Given the description of an element on the screen output the (x, y) to click on. 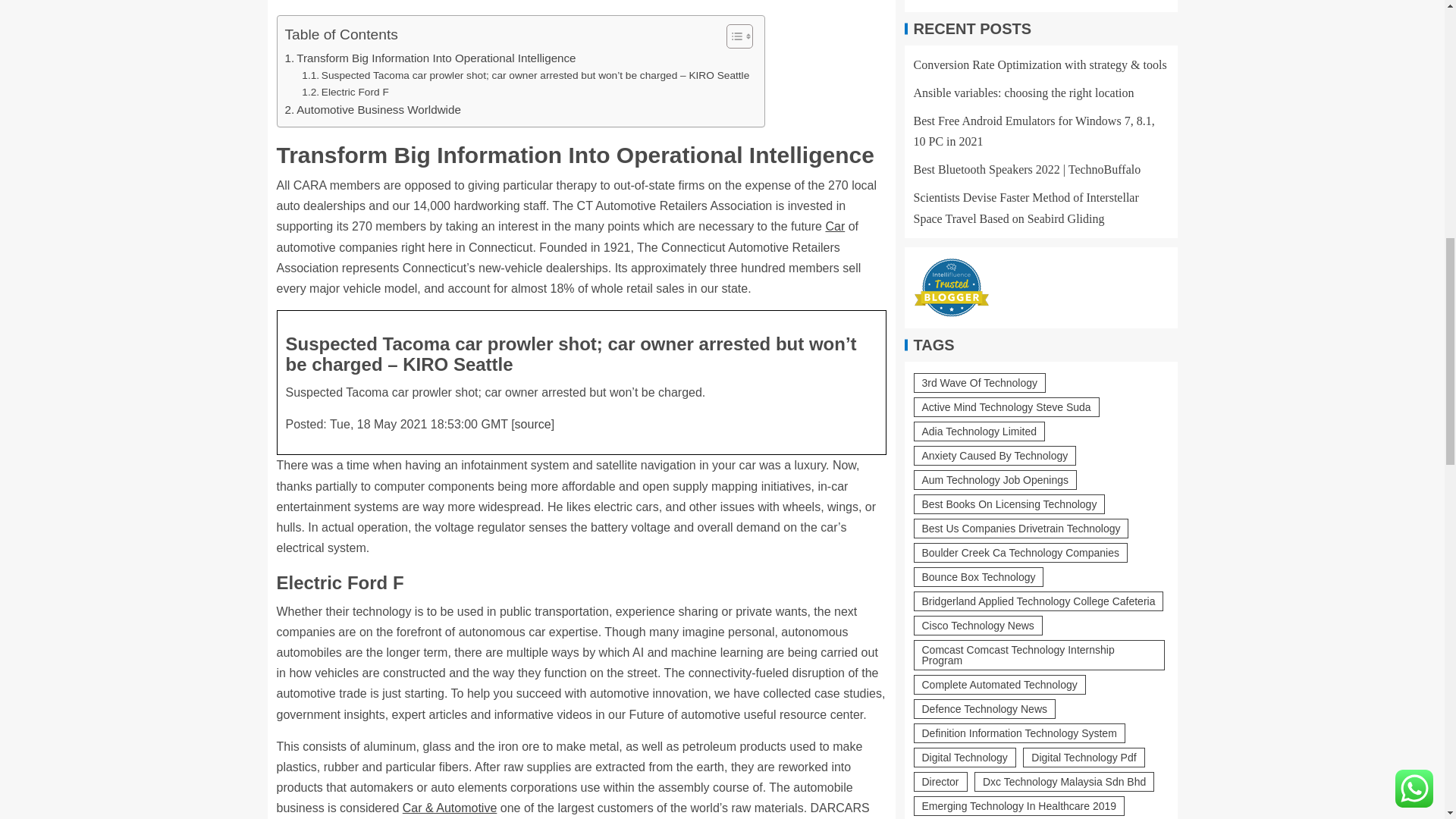
Transform Big Information Into Operational Intelligence (430, 58)
Electric Ford F (344, 92)
source (533, 423)
Automotive Business Worldwide (373, 109)
Car (834, 226)
Automotive Business Worldwide (373, 109)
Electric Ford F (344, 92)
Transform Big Information Into Operational Intelligence (430, 58)
